Given the description of an element on the screen output the (x, y) to click on. 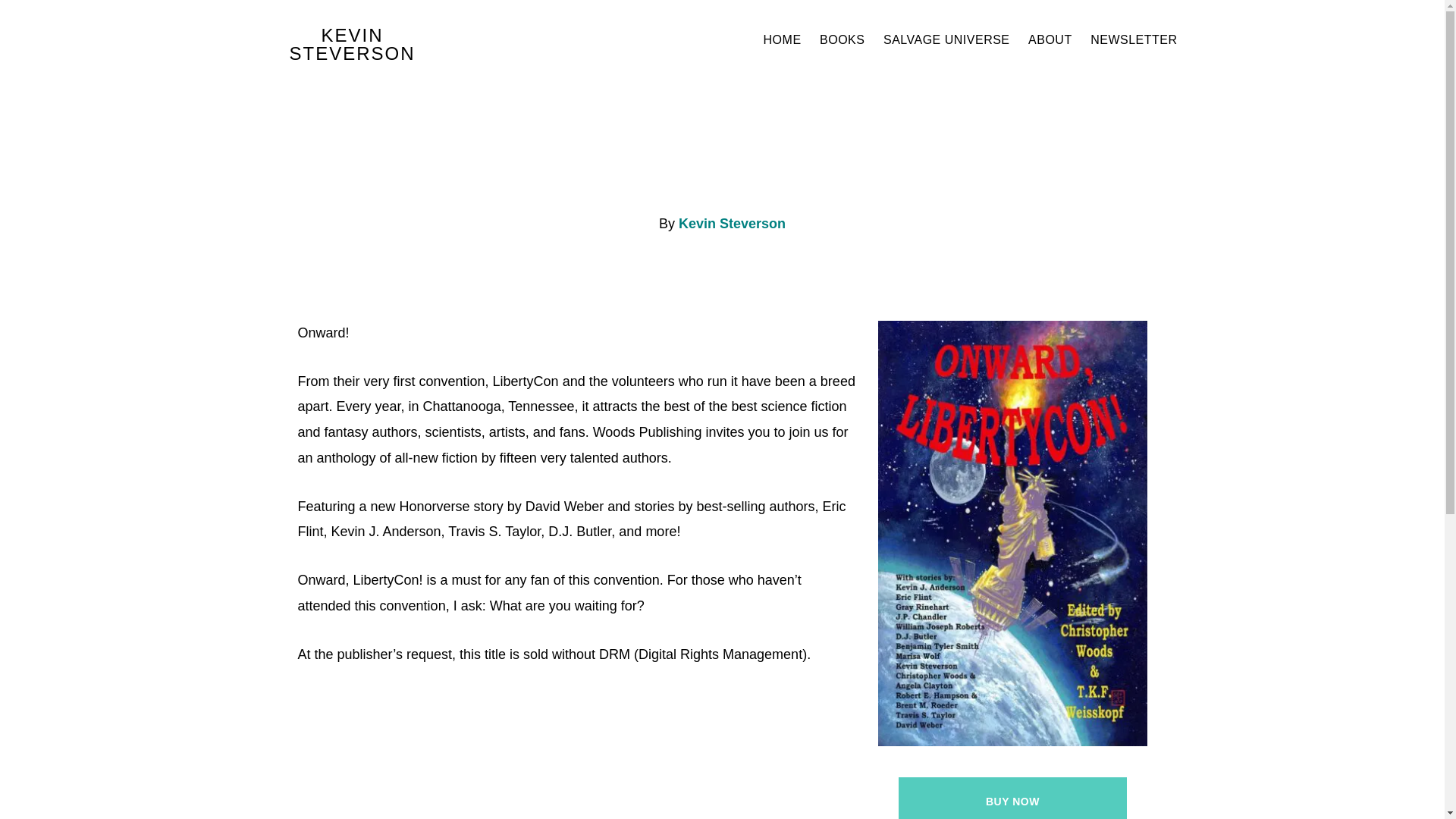
NEWSLETTER (1134, 39)
HOME (782, 39)
BUY NOW (1012, 798)
KEVIN STEVERSON (351, 44)
SALVAGE UNIVERSE (946, 39)
BOOKS (842, 39)
ABOUT (1050, 39)
Kevin Steverson (732, 223)
